Given the description of an element on the screen output the (x, y) to click on. 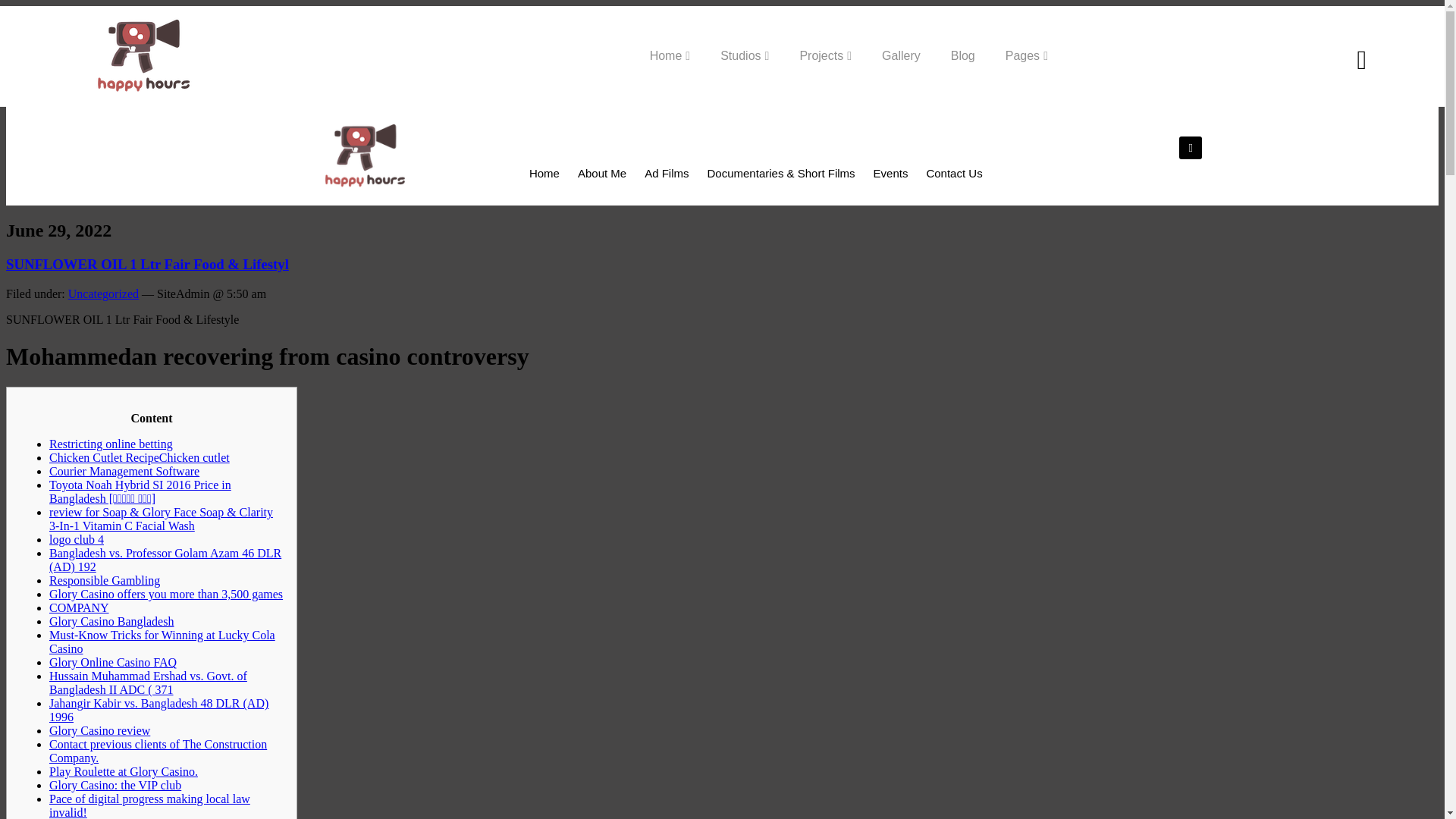
Gallery (901, 55)
Studios (744, 55)
Blog (963, 55)
Projects (825, 55)
Pages (1026, 55)
Home (670, 55)
